Given the description of an element on the screen output the (x, y) to click on. 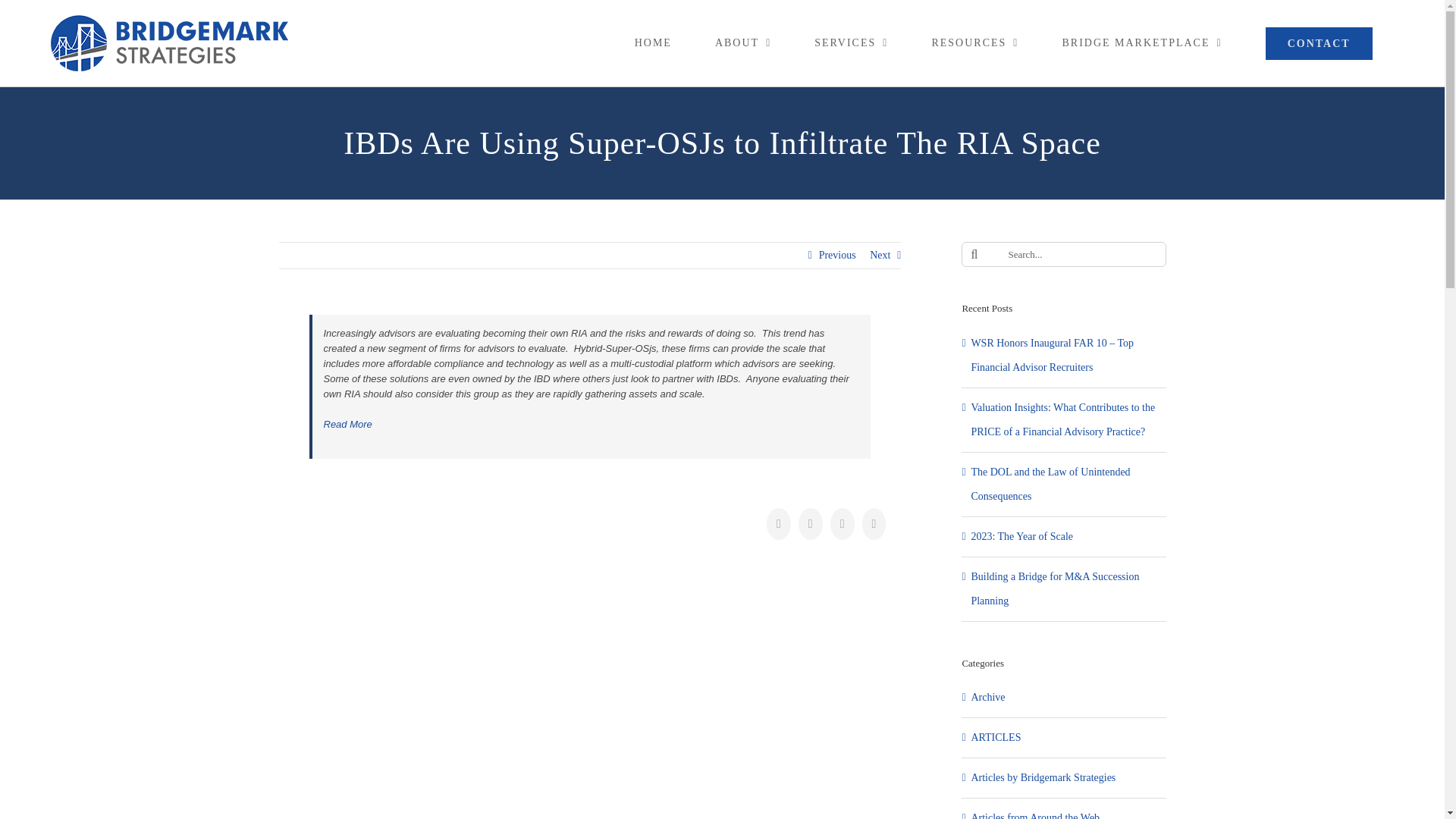
HOME (652, 43)
RESOURCES (975, 43)
ABOUT (742, 43)
SERVICES (851, 43)
